Given the description of an element on the screen output the (x, y) to click on. 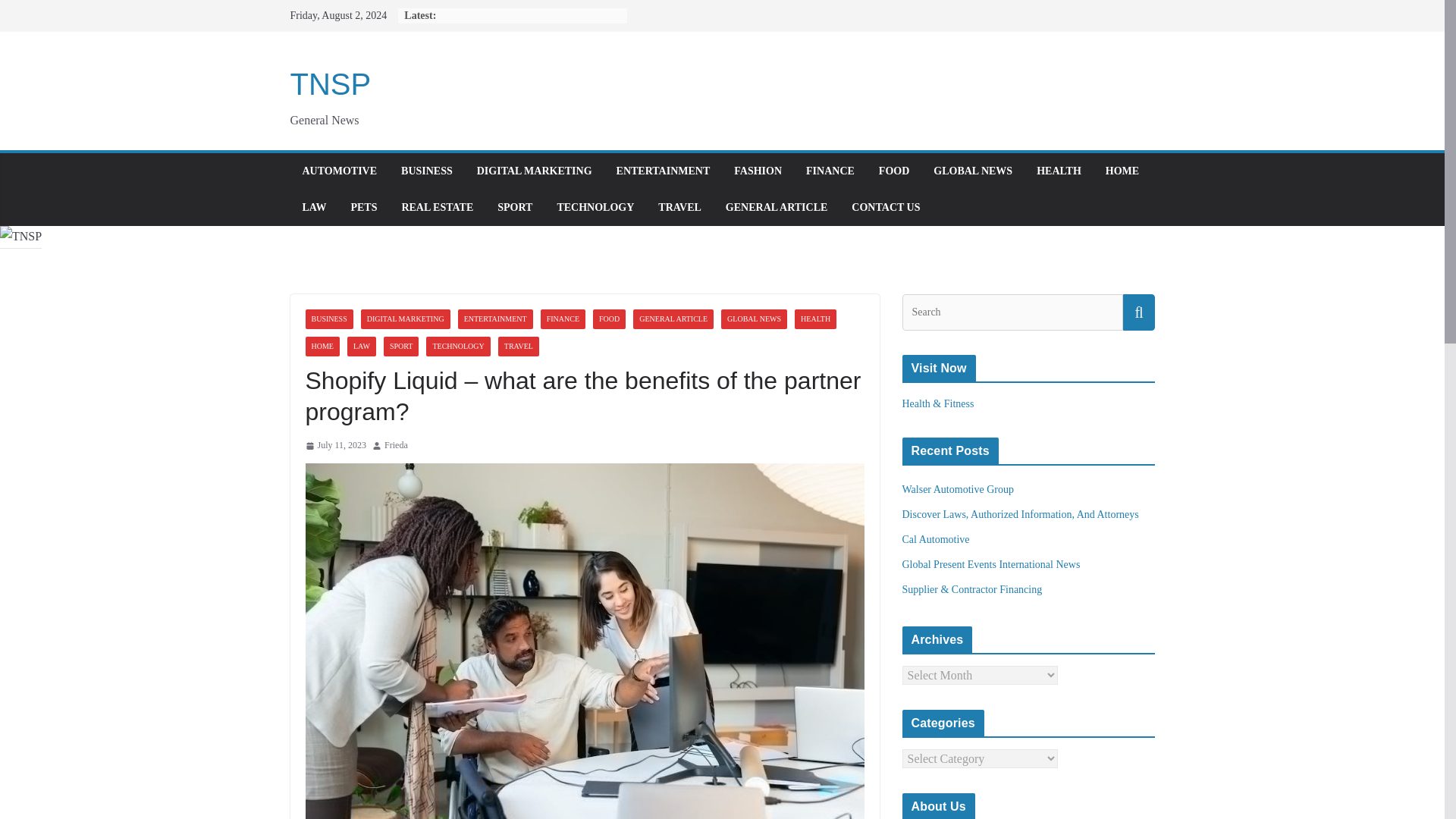
GENERAL ARTICLE (776, 207)
TECHNOLOGY (594, 207)
PETS (363, 207)
SPORT (401, 346)
FINANCE (562, 319)
HEALTH (814, 319)
CONTACT US (885, 207)
SPORT (514, 207)
ENTERTAINMENT (662, 170)
HEALTH (1058, 170)
TNSP (330, 83)
ENTERTAINMENT (495, 319)
TECHNOLOGY (457, 346)
3:14 am (335, 445)
TRAVEL (679, 207)
